Given the description of an element on the screen output the (x, y) to click on. 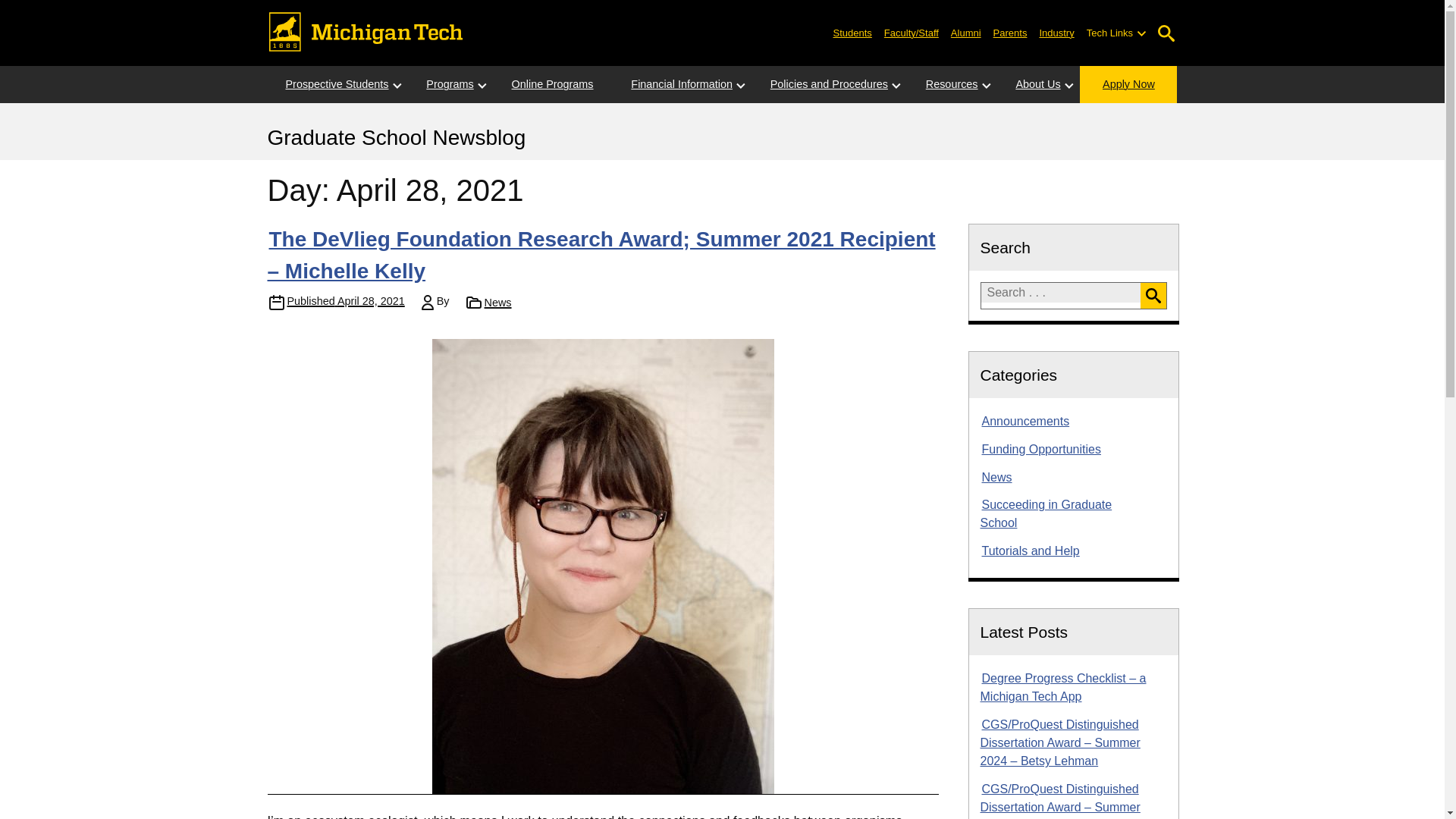
Industry (1056, 32)
Open Search (1166, 33)
Prospective Students (336, 84)
Financial Information (681, 84)
Online Programs (552, 84)
Students (852, 32)
Parents (1010, 32)
Programs (449, 84)
Alumni (965, 32)
